Given the description of an element on the screen output the (x, y) to click on. 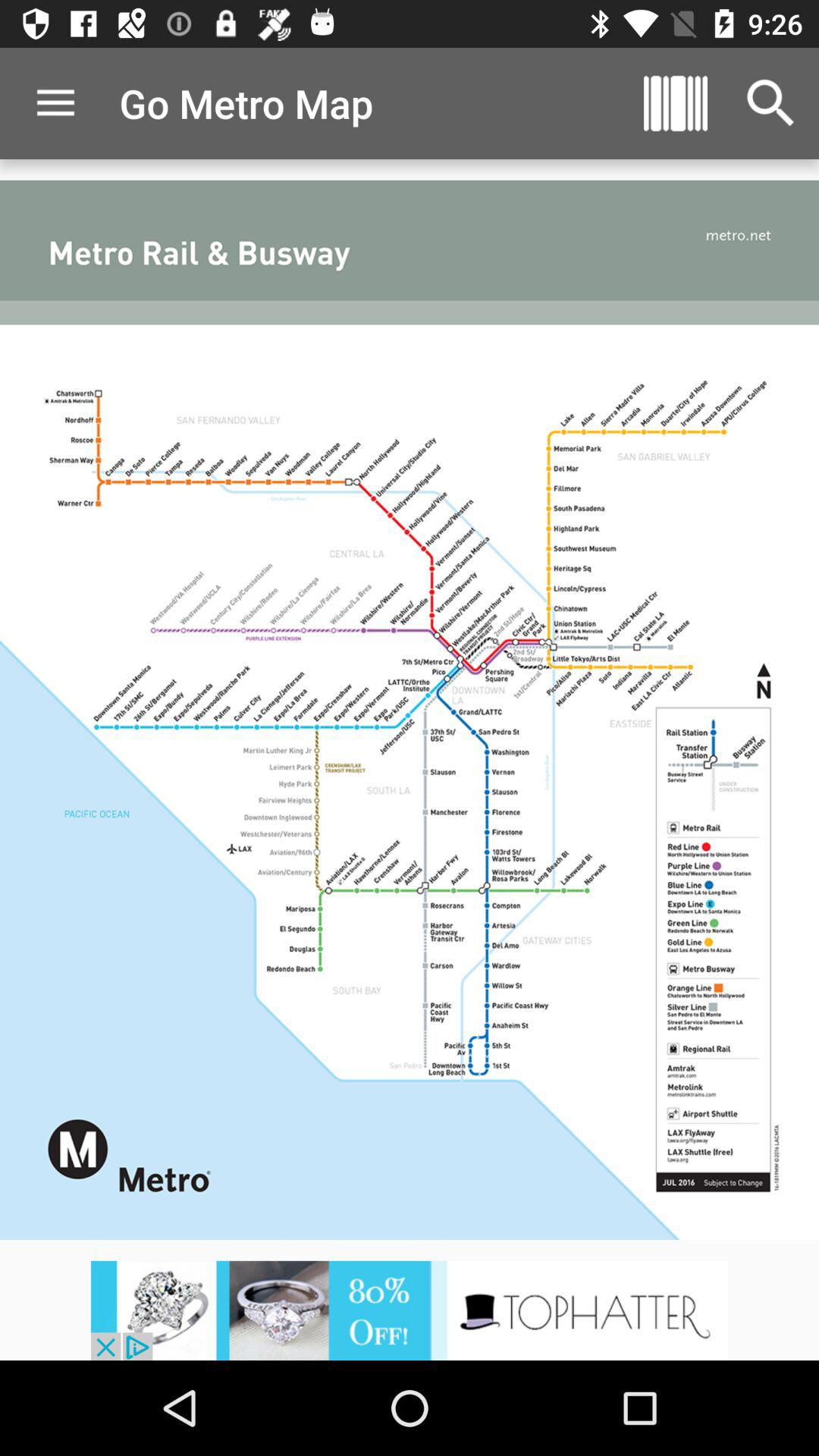
go to this site (409, 1310)
